Given the description of an element on the screen output the (x, y) to click on. 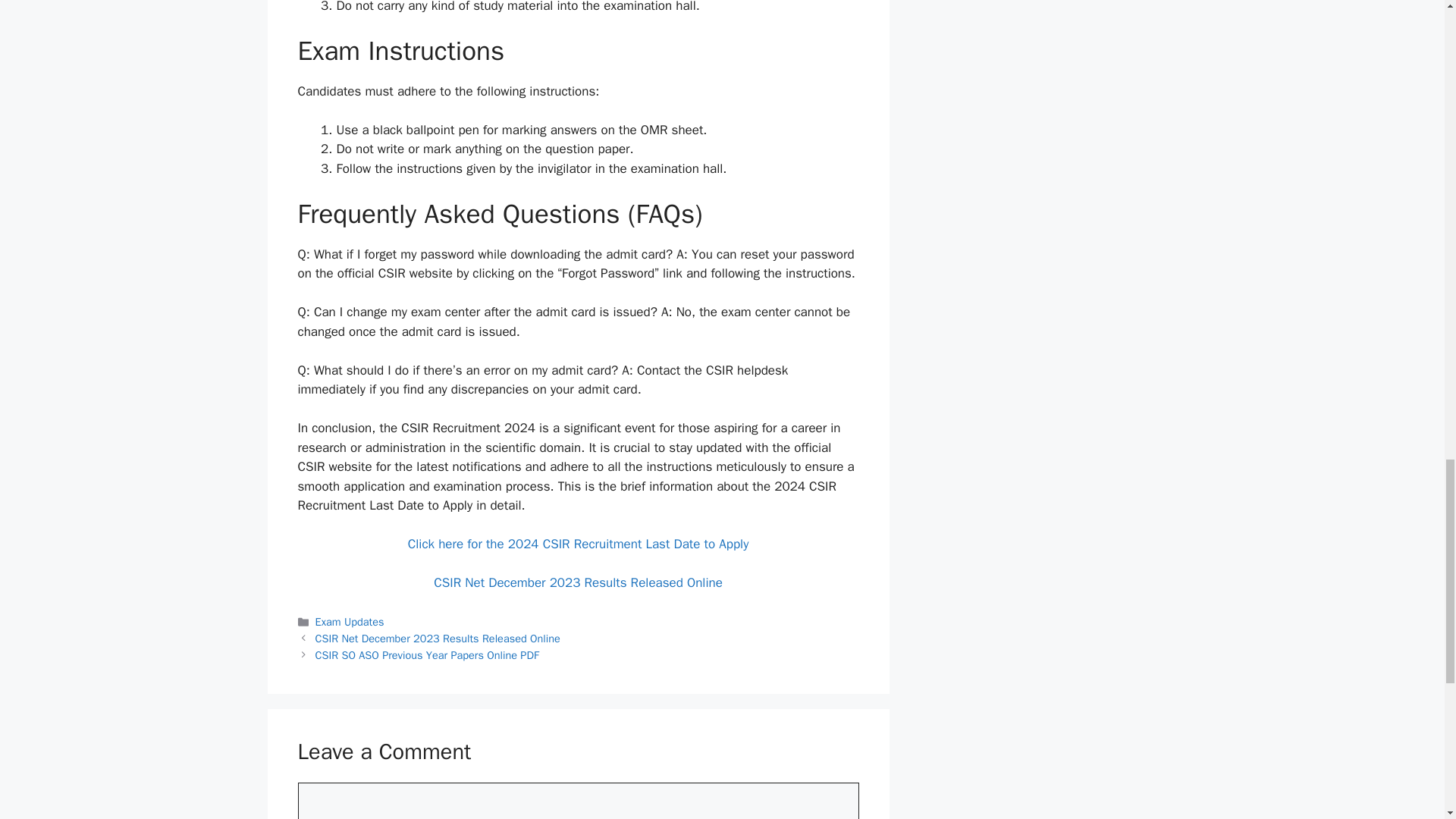
CSIR Net December 2023 Results Released Online (437, 638)
CSIR Net December 2023 Results Released Online (577, 582)
Exam Updates (349, 621)
Click here for the 2024 CSIR Recruitment Last Date to Apply (578, 544)
CSIR SO ASO Previous Year Papers Online PDF (426, 654)
